Given the description of an element on the screen output the (x, y) to click on. 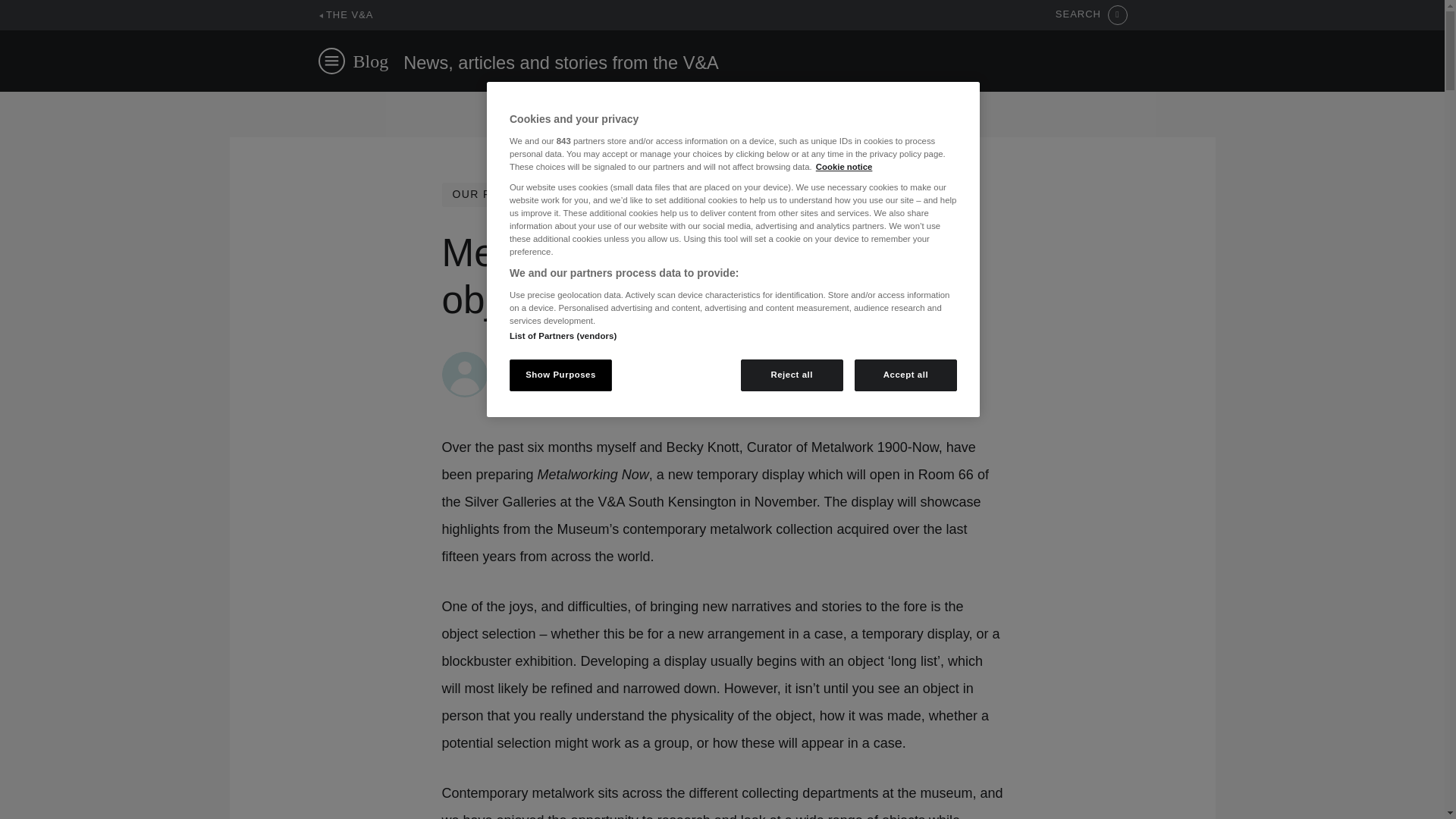
OUR PROJECTS (499, 194)
Posts by Clementine Loustric (550, 359)
SEARCH (1090, 15)
Blog (370, 60)
Clementine Loustric (550, 359)
